Given the description of an element on the screen output the (x, y) to click on. 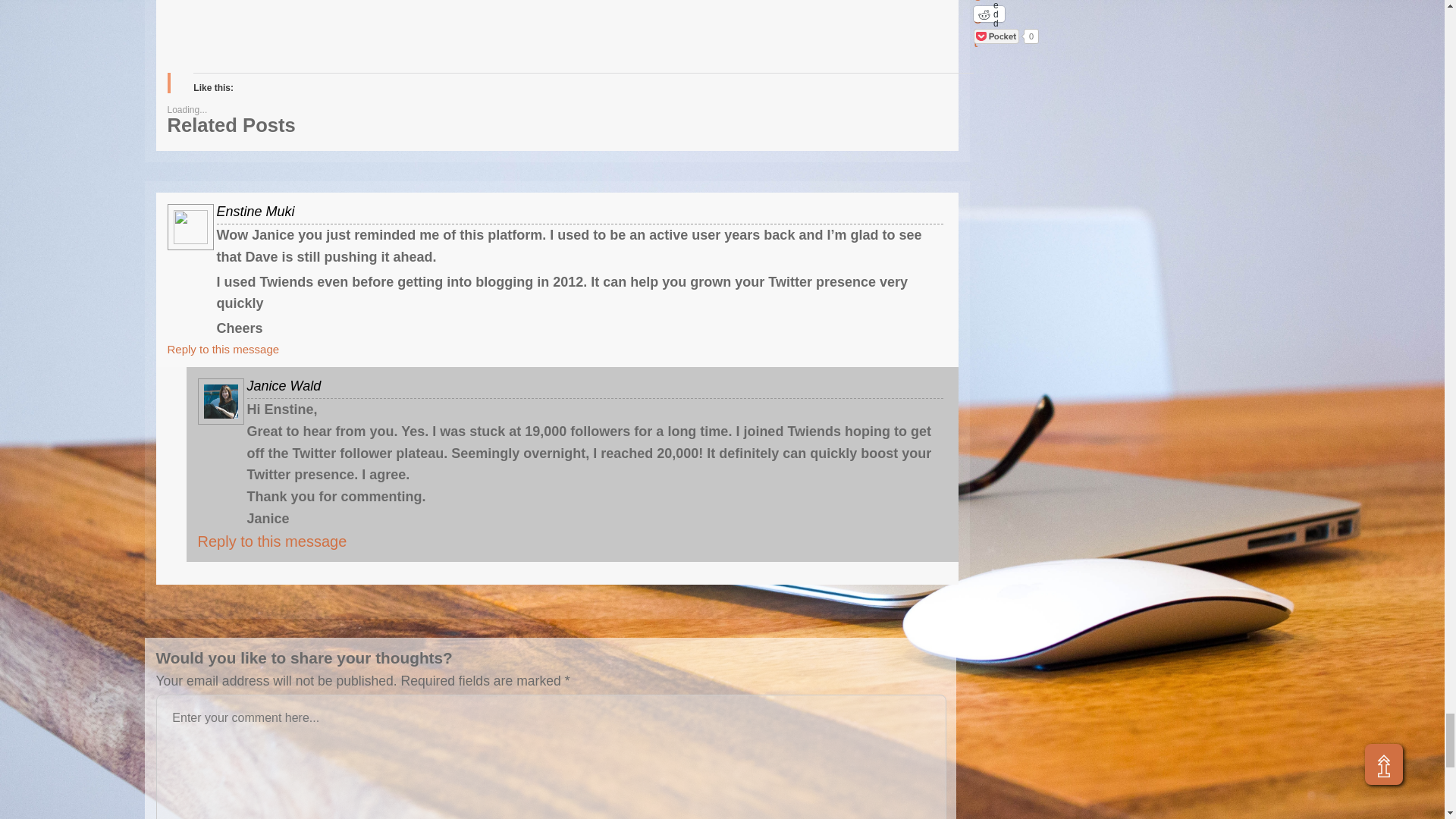
Click to share on Reddit (989, 13)
